Given the description of an element on the screen output the (x, y) to click on. 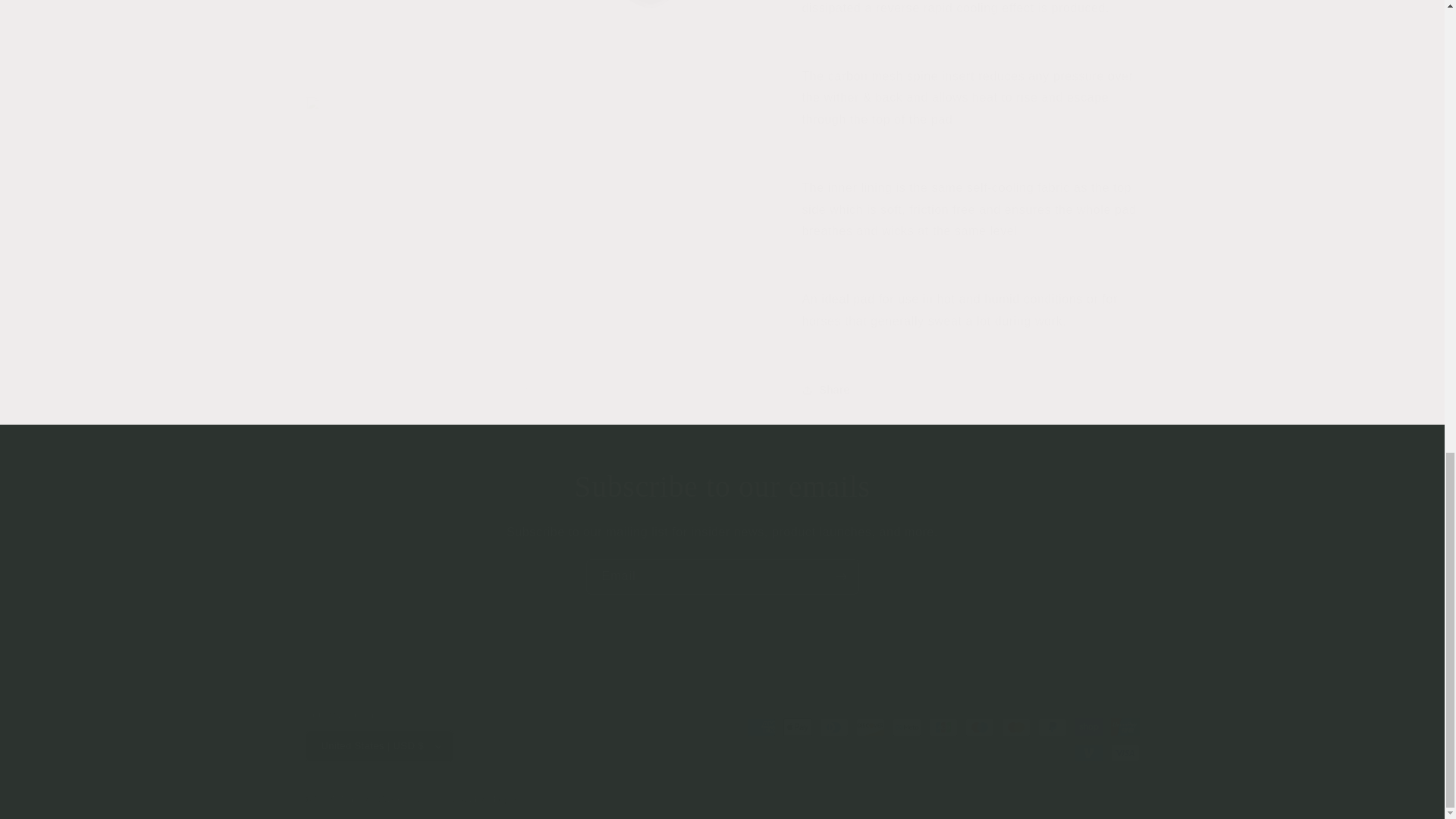
Subscribe to our emails (721, 486)
Open media 2 in modal (415, 31)
Email (722, 576)
Open media 3 in modal (652, 31)
